Given the description of an element on the screen output the (x, y) to click on. 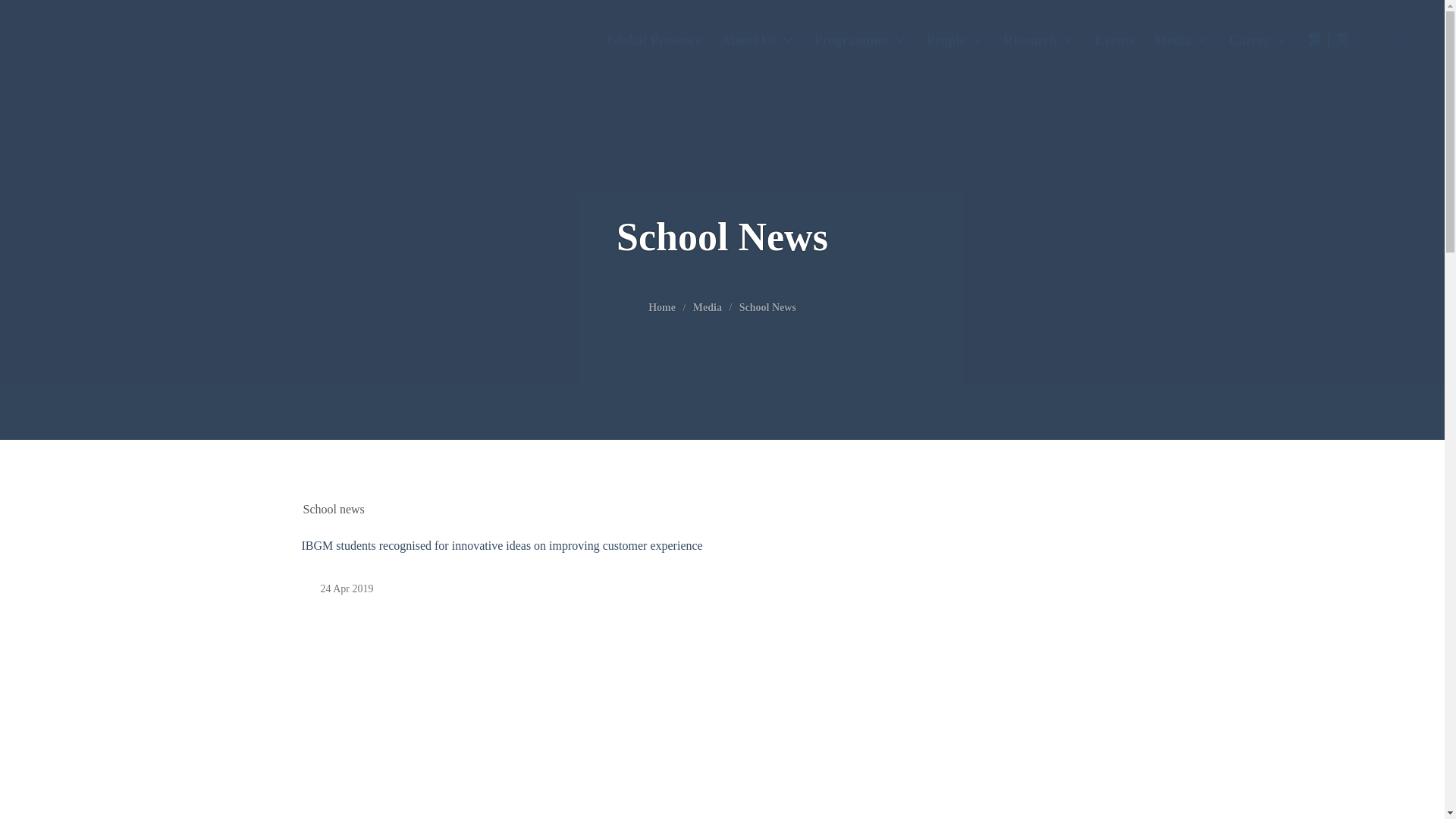
Programmes (861, 41)
Global Presence (653, 41)
People (954, 41)
About Us (758, 41)
